Given the description of an element on the screen output the (x, y) to click on. 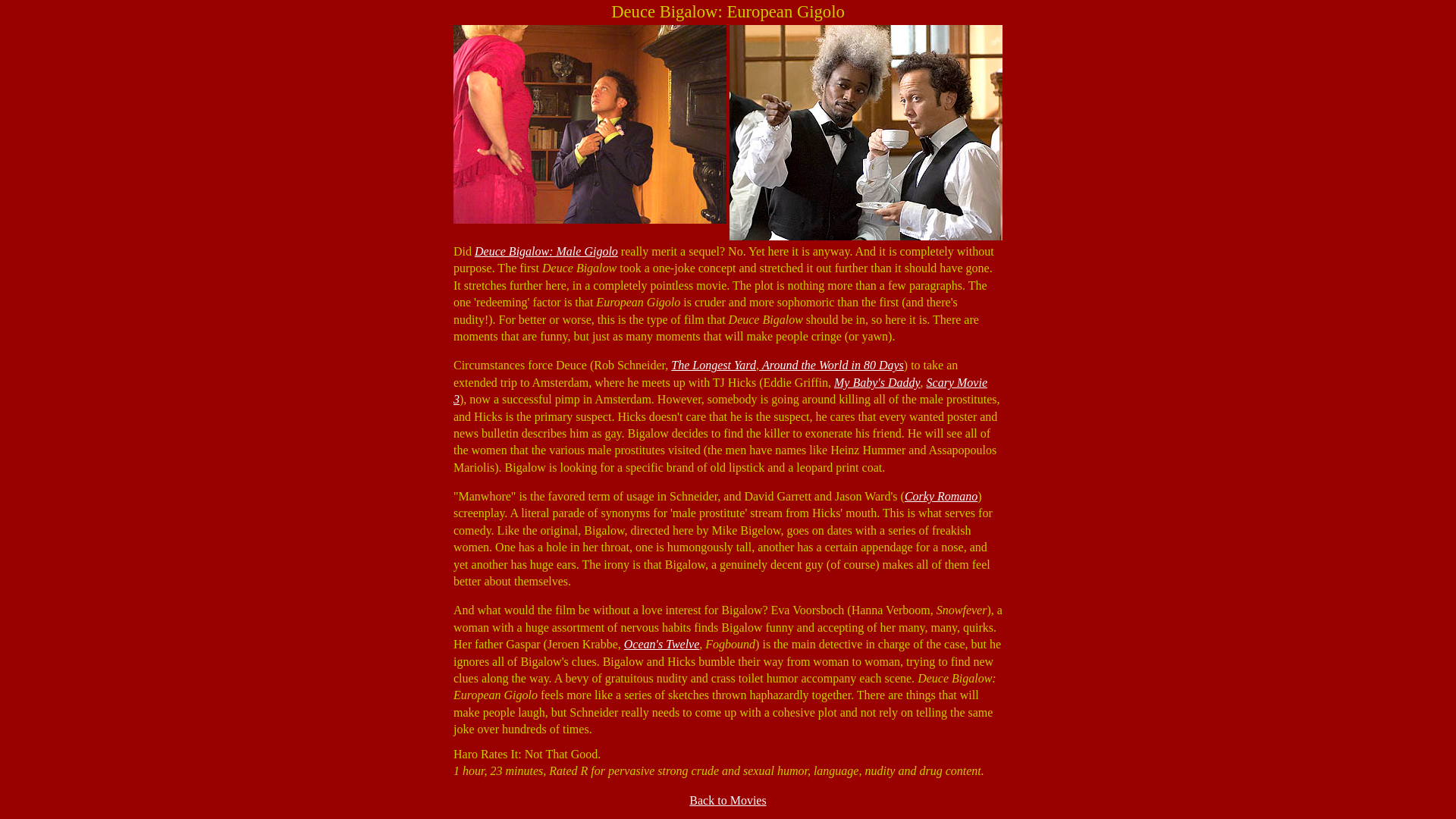
My Baby's Daddy (877, 382)
Corky Romano (940, 495)
Ocean's Twelve (662, 644)
The Longest Yard (713, 364)
Deuce Bigalow: Male Gigolo (545, 250)
Scary Movie 3 (719, 390)
Back to Movies (726, 799)
Around the World in 80 Days (831, 364)
